Given the description of an element on the screen output the (x, y) to click on. 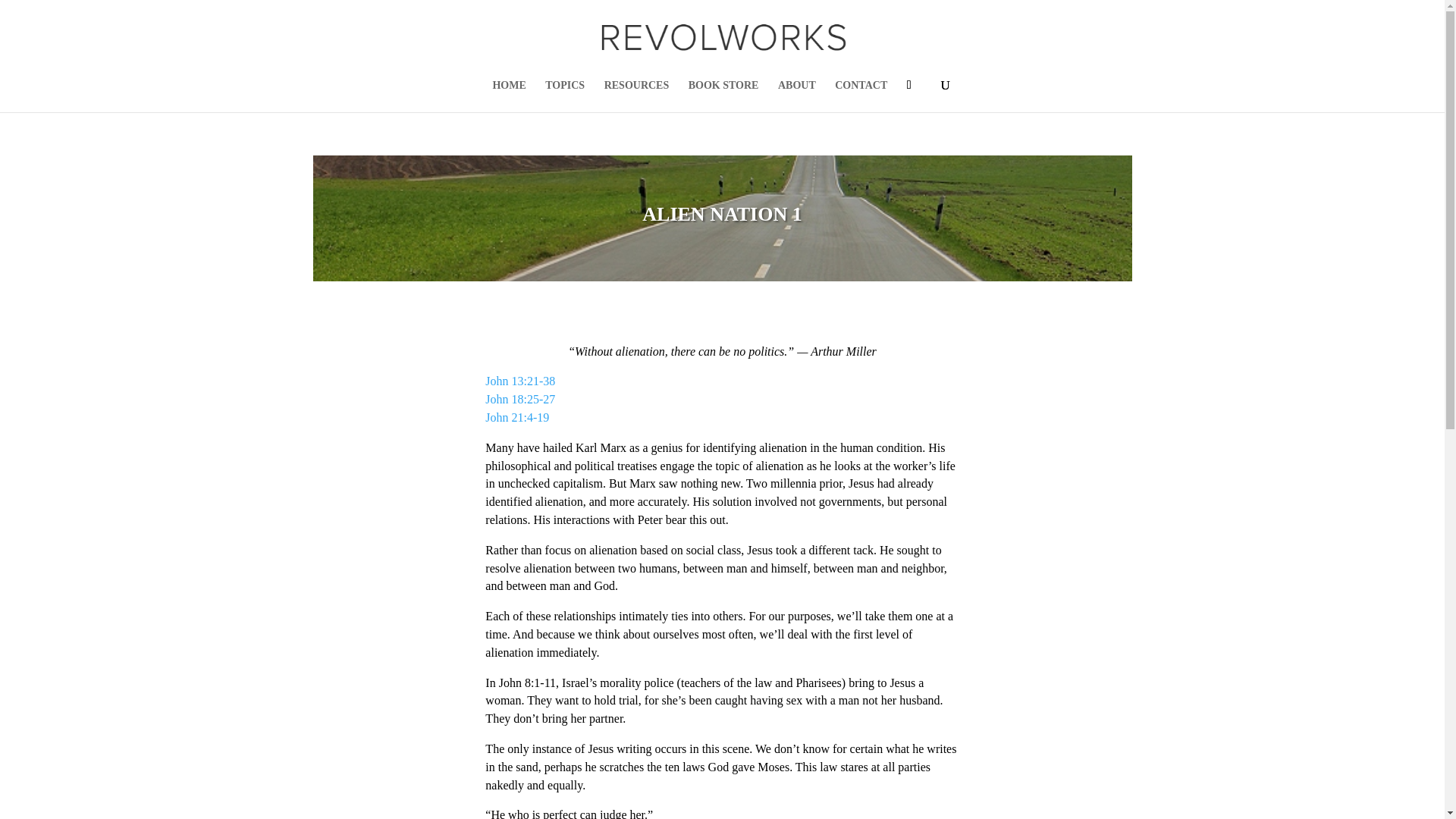
John 18:25-27 (519, 399)
John 13:21-38 (519, 380)
ABOUT (796, 96)
BOOK STORE (723, 96)
John 21:4-19 (516, 417)
CONTACT (860, 96)
RESOURCES (636, 96)
TOPICS (564, 96)
HOME (508, 96)
